Given the description of an element on the screen output the (x, y) to click on. 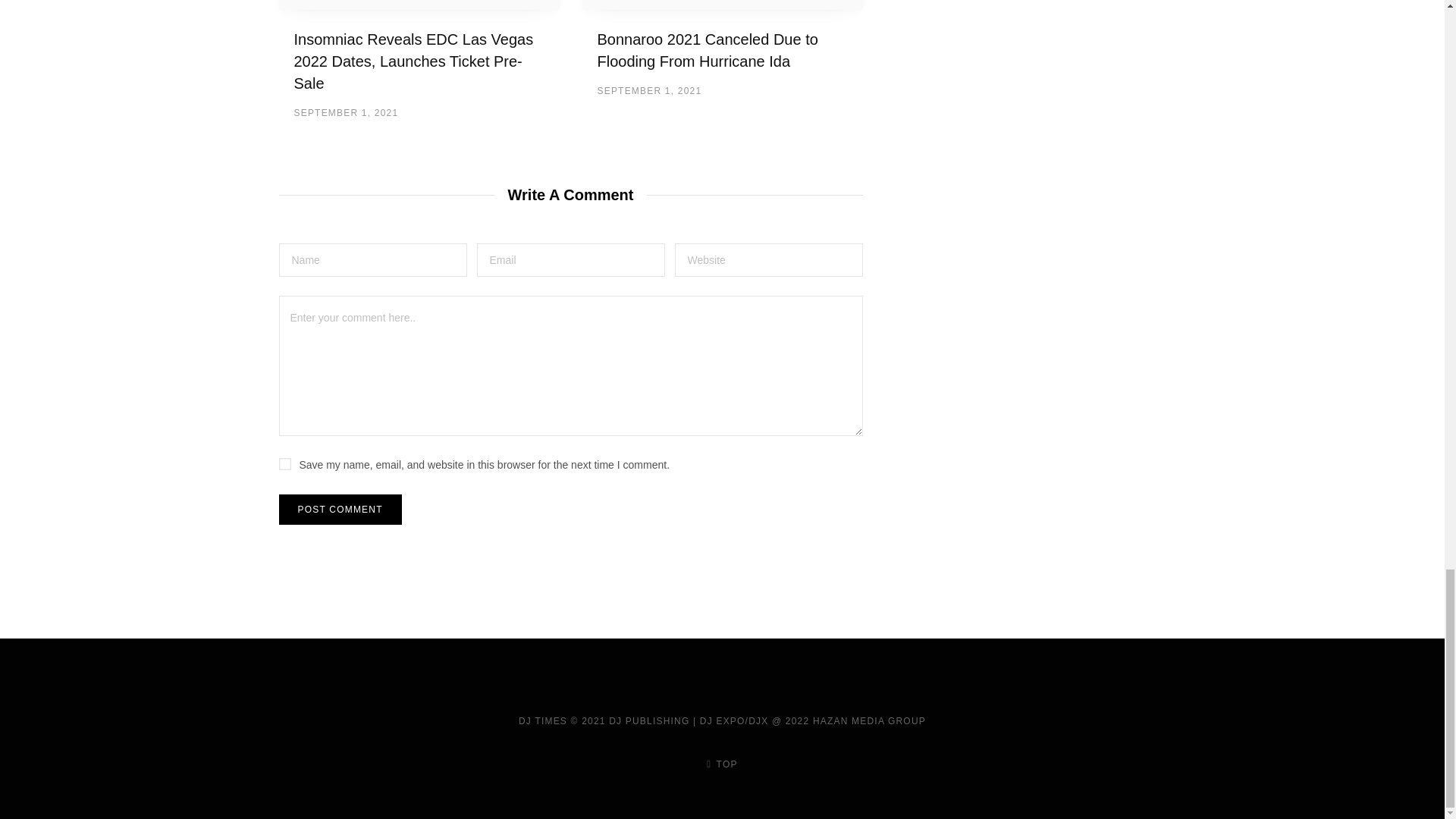
yes (285, 463)
Post Comment (340, 509)
